Given the description of an element on the screen output the (x, y) to click on. 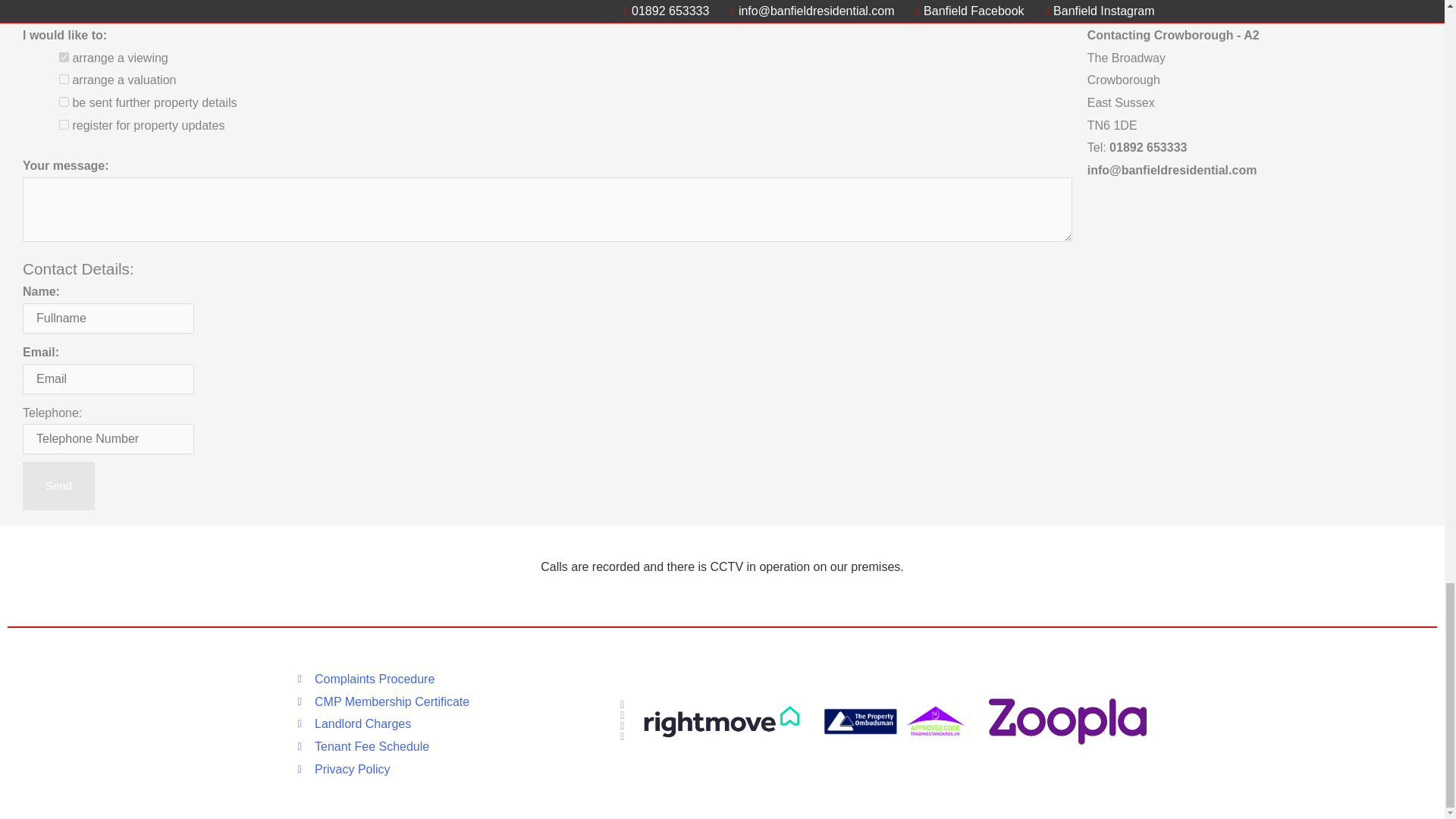
true (63, 79)
true (63, 124)
true (63, 57)
Send (58, 485)
true (63, 102)
